Given the description of an element on the screen output the (x, y) to click on. 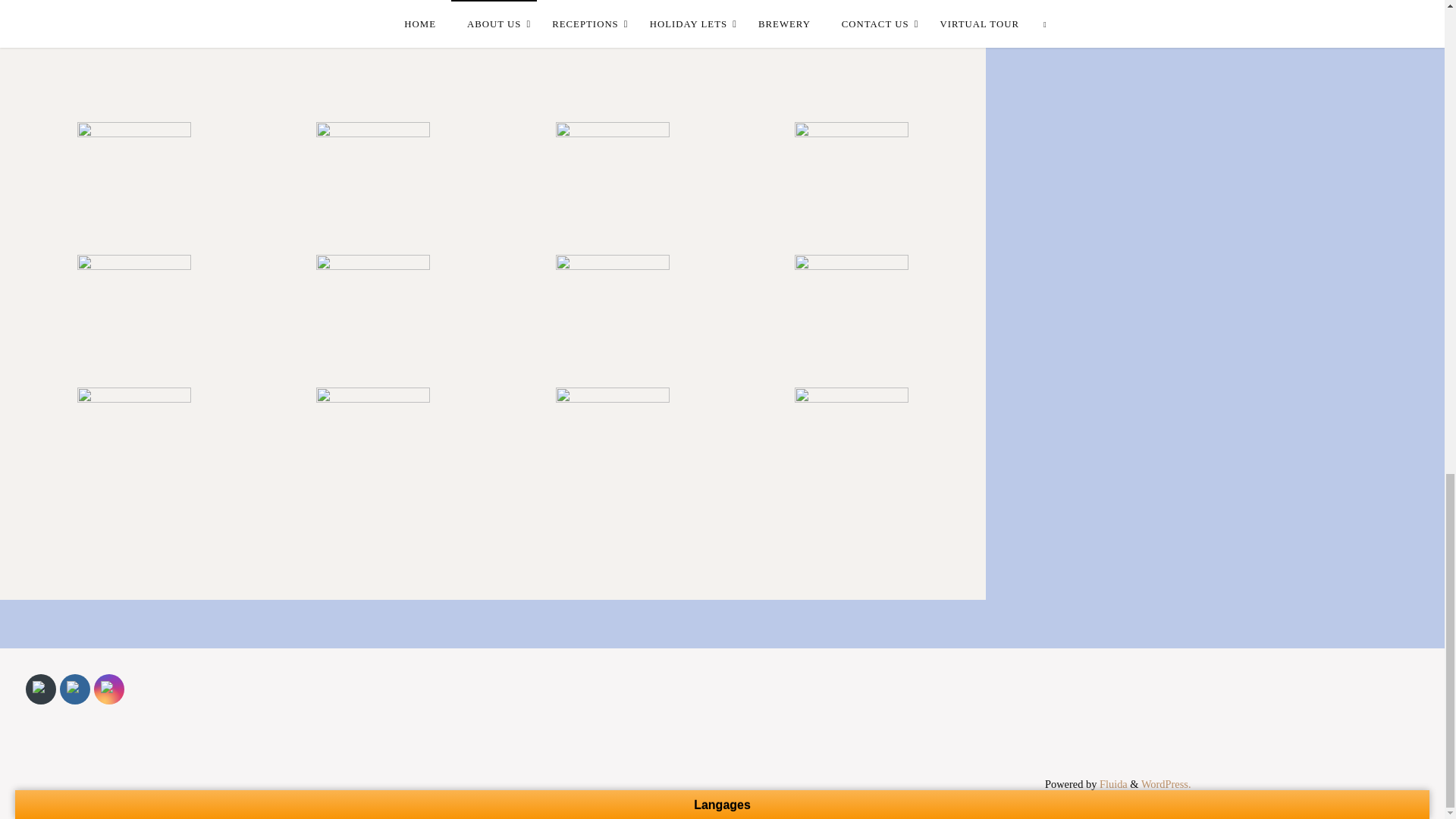
Email (40, 688)
Semantic Personal Publishing Platform (1166, 784)
Instagram (108, 688)
Facebook (74, 688)
Fluida WordPress Theme by Cryout Creations (1111, 784)
